Given the description of an element on the screen output the (x, y) to click on. 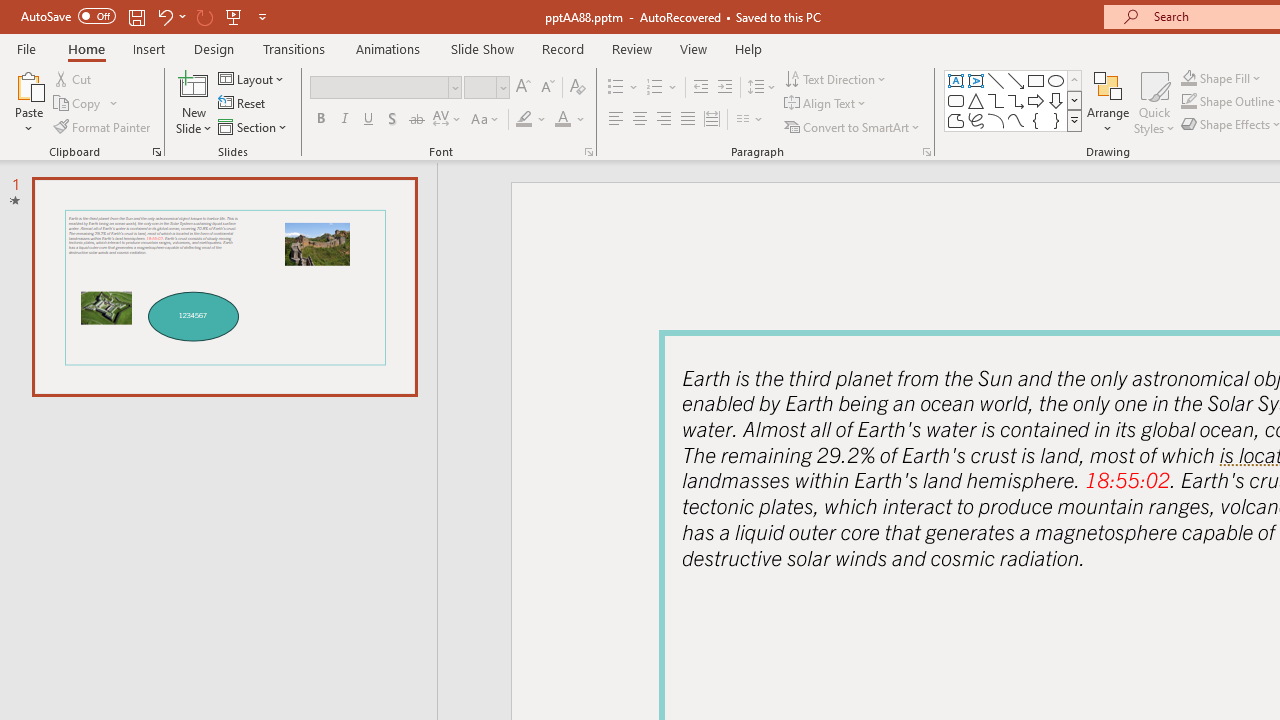
Shadow (392, 119)
Strikethrough (416, 119)
Right Brace (1055, 120)
Arrow: Down (1055, 100)
Text Direction (836, 78)
Paragraph... (926, 151)
Character Spacing (447, 119)
Rectangle (1035, 80)
Shape Fill Aqua, Accent 2 (1188, 78)
